Given the description of an element on the screen output the (x, y) to click on. 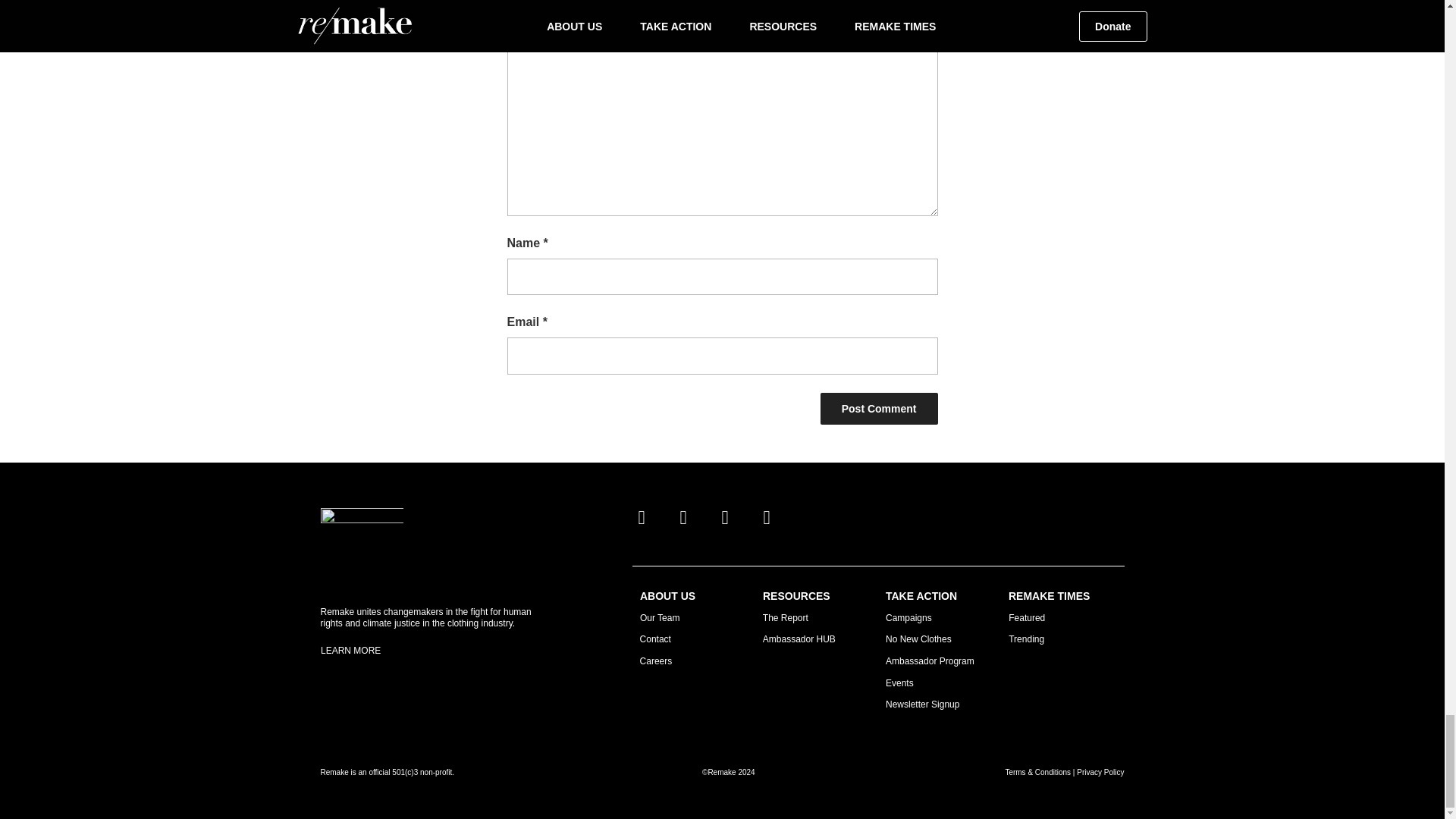
Post Comment (879, 409)
